Given the description of an element on the screen output the (x, y) to click on. 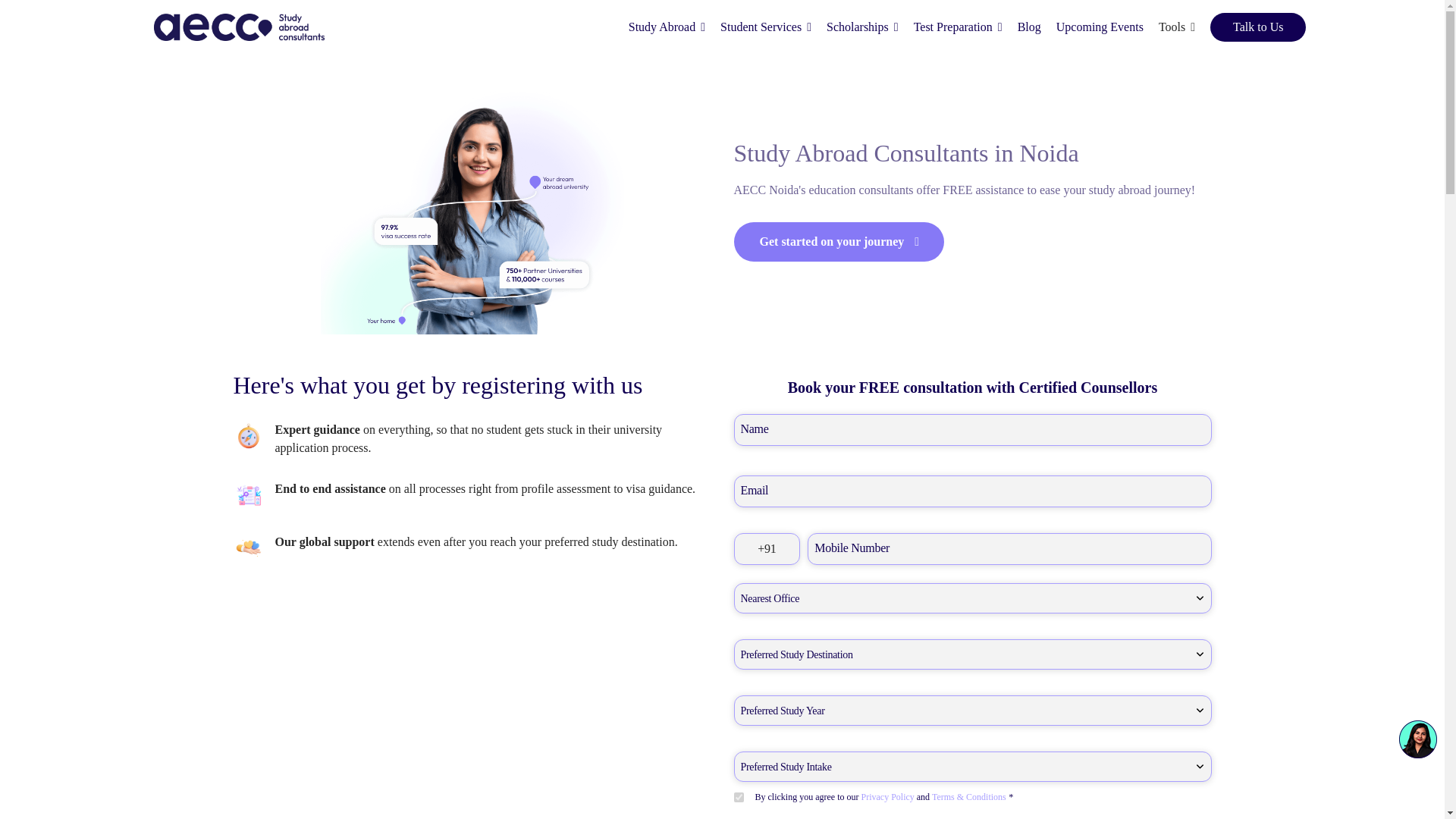
on (738, 797)
Study Abroad (666, 27)
